Given the description of an element on the screen output the (x, y) to click on. 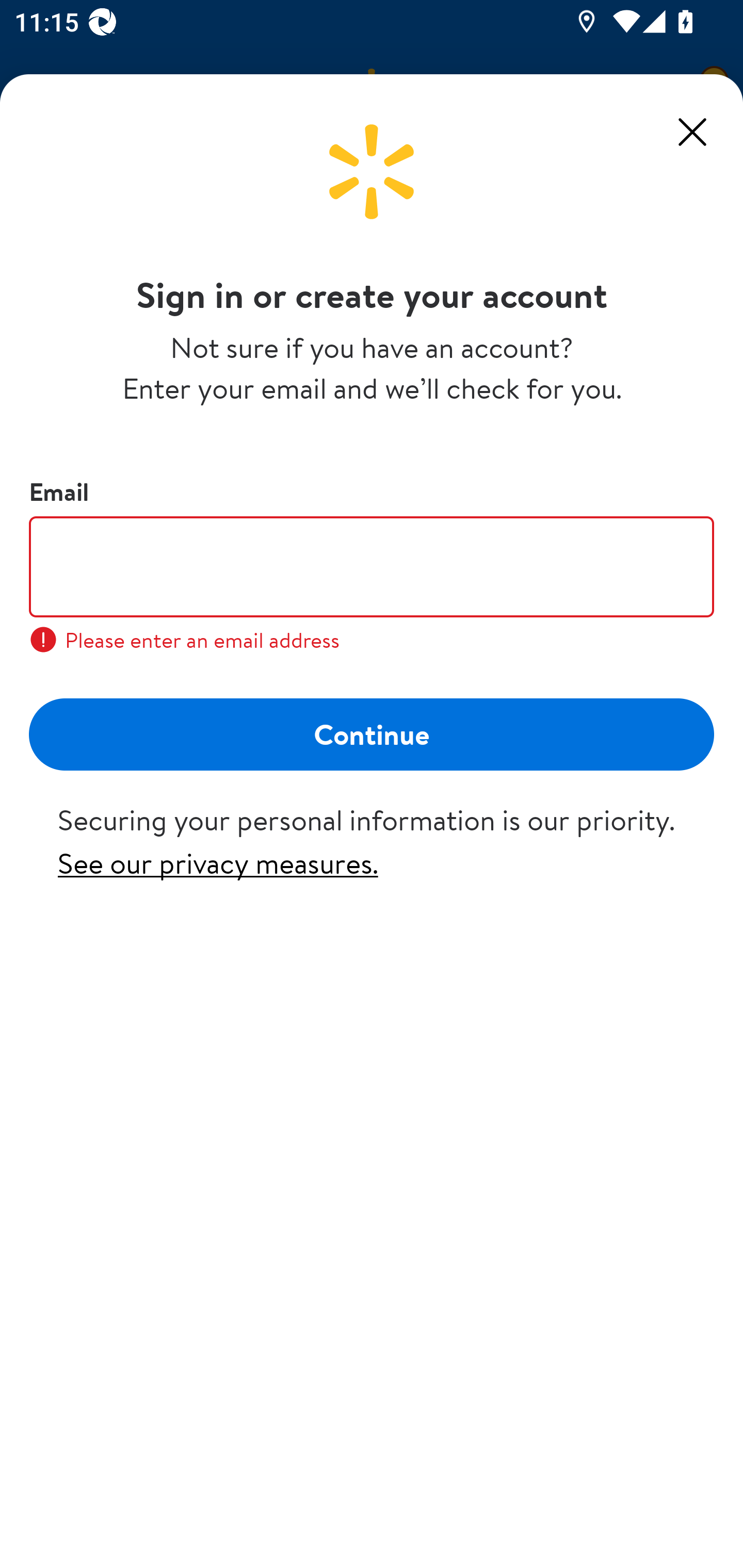
Close (692, 131)
Email (371, 566)
Continue (371, 733)
